Given the description of an element on the screen output the (x, y) to click on. 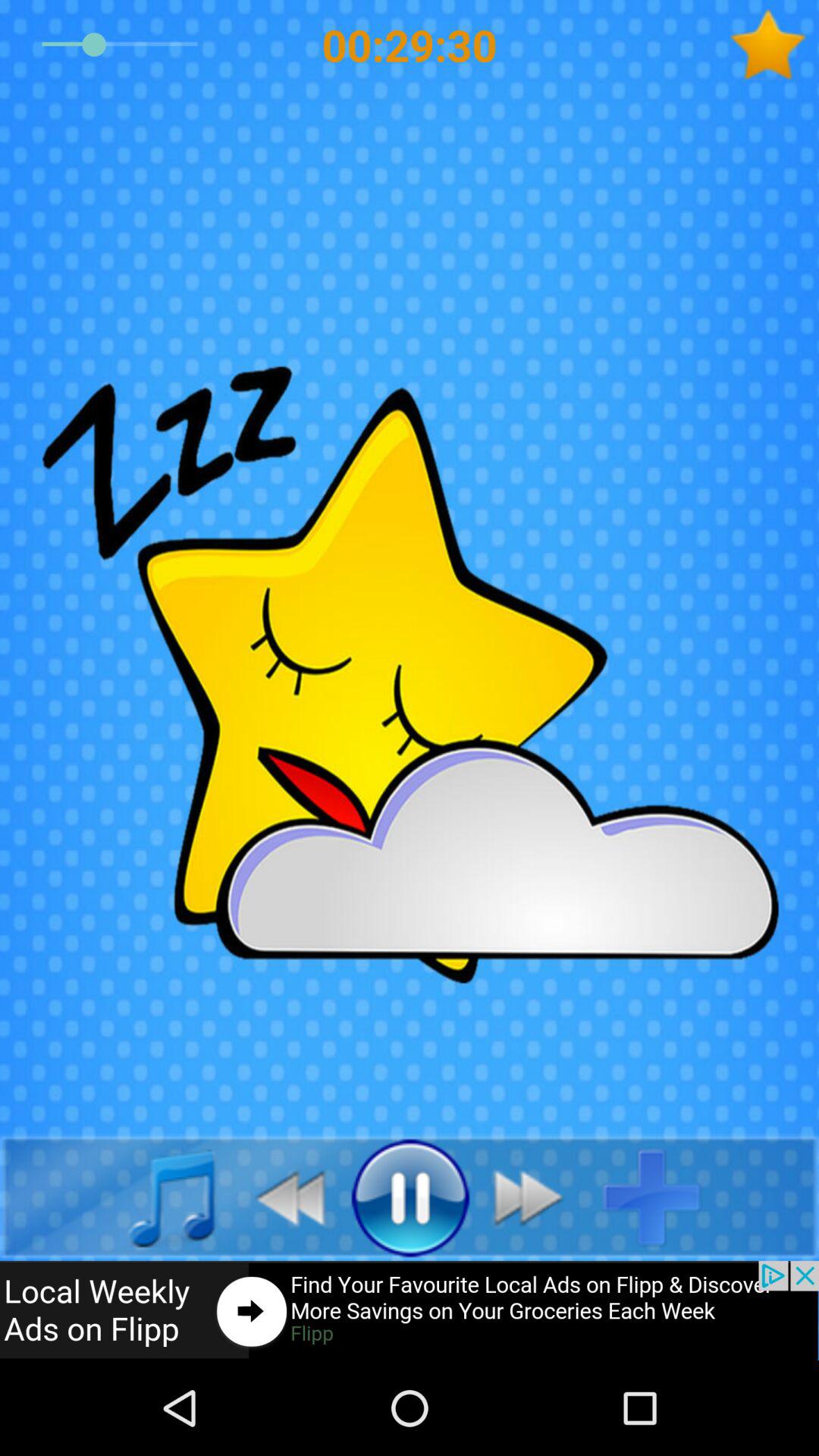
mark favorite (774, 44)
